Given the description of an element on the screen output the (x, y) to click on. 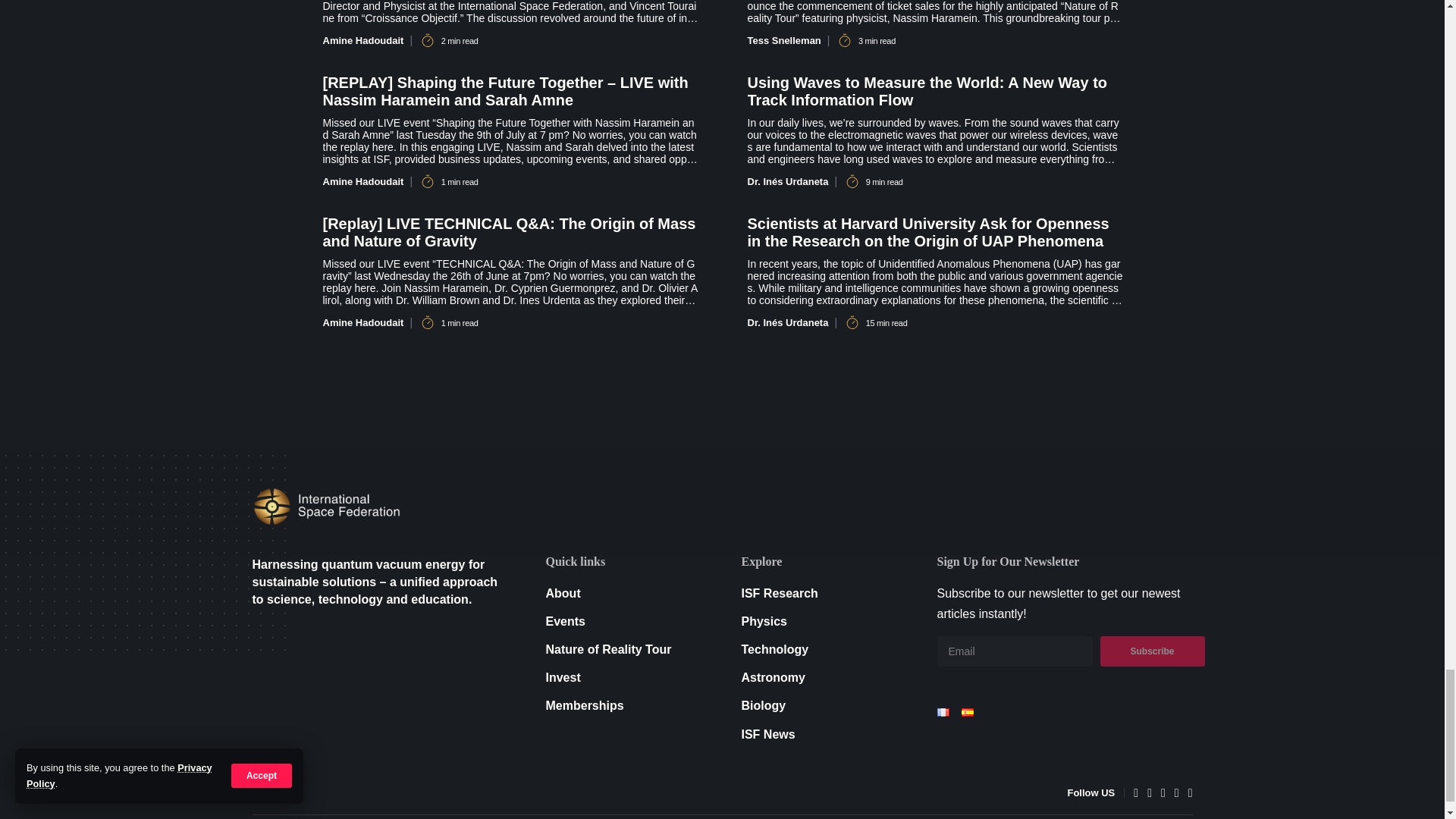
Subscribe (1151, 651)
